Given the description of an element on the screen output the (x, y) to click on. 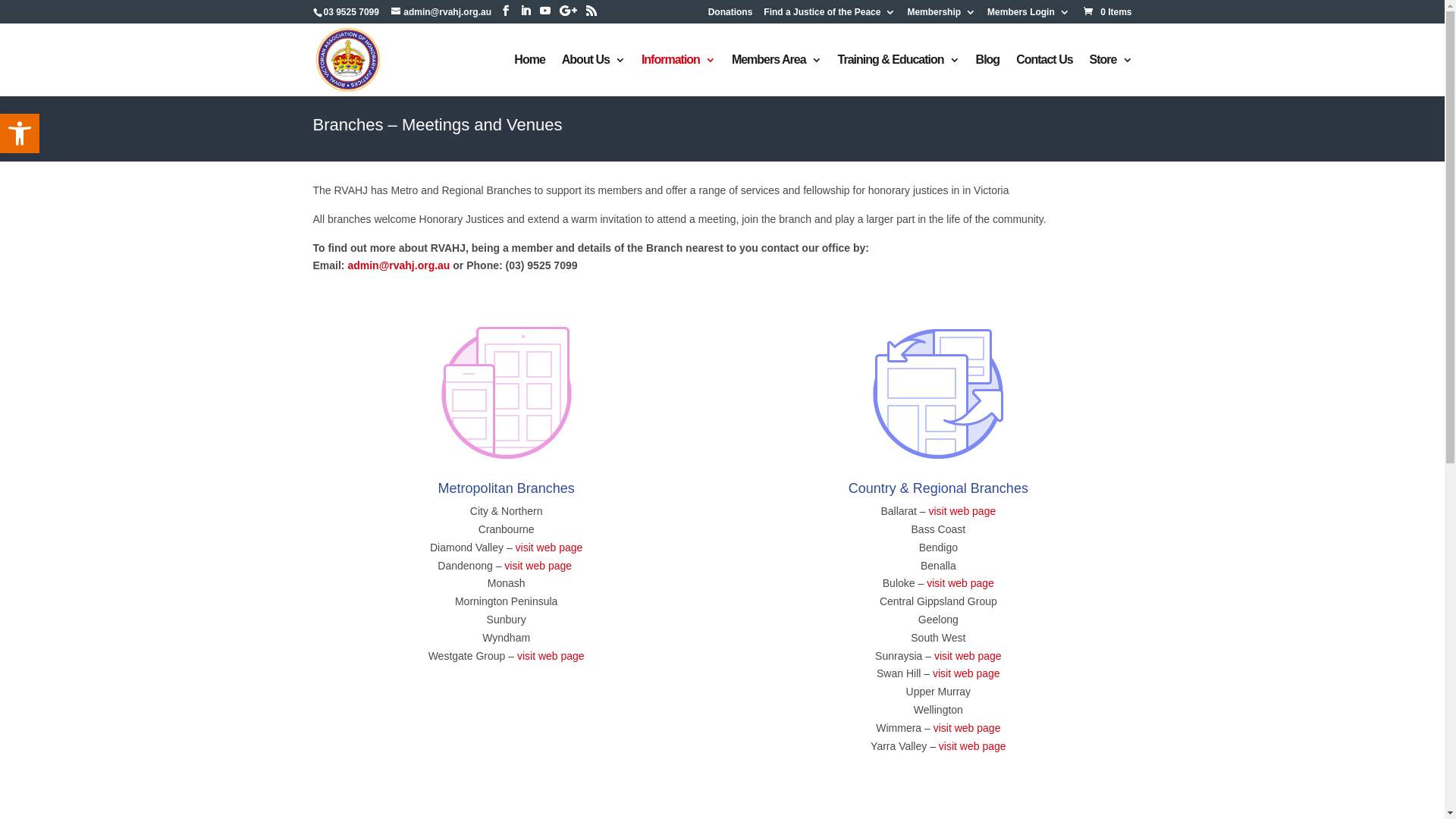
visit web page Element type: text (961, 511)
Contact Us Element type: text (1044, 75)
Members Area Element type: text (776, 75)
Information Element type: text (678, 75)
visit web page Element type: text (550, 655)
visit web page Element type: text (967, 655)
Find a Justice of the Peace Element type: text (829, 15)
admin@rvahj.org.au Element type: text (398, 265)
Membership Element type: text (940, 15)
visit web page Element type: text (966, 673)
Training & Education Element type: text (898, 75)
Open toolbar
Accessibility Tools Element type: text (19, 133)
admin@rvahj.org.au Element type: text (441, 11)
Blog Element type: text (987, 75)
visit web page  Element type: text (539, 565)
Home Element type: text (529, 75)
About Us Element type: text (592, 75)
visit web page Element type: text (967, 727)
Members Login Element type: text (1028, 15)
0 Items Element type: text (1106, 11)
visit web page Element type: text (972, 746)
Donations Element type: text (730, 15)
visit web page Element type: text (960, 583)
03 9525 7099 Element type: text (350, 11)
Store Element type: text (1110, 75)
visit web page Element type: text (549, 547)
